Given the description of an element on the screen output the (x, y) to click on. 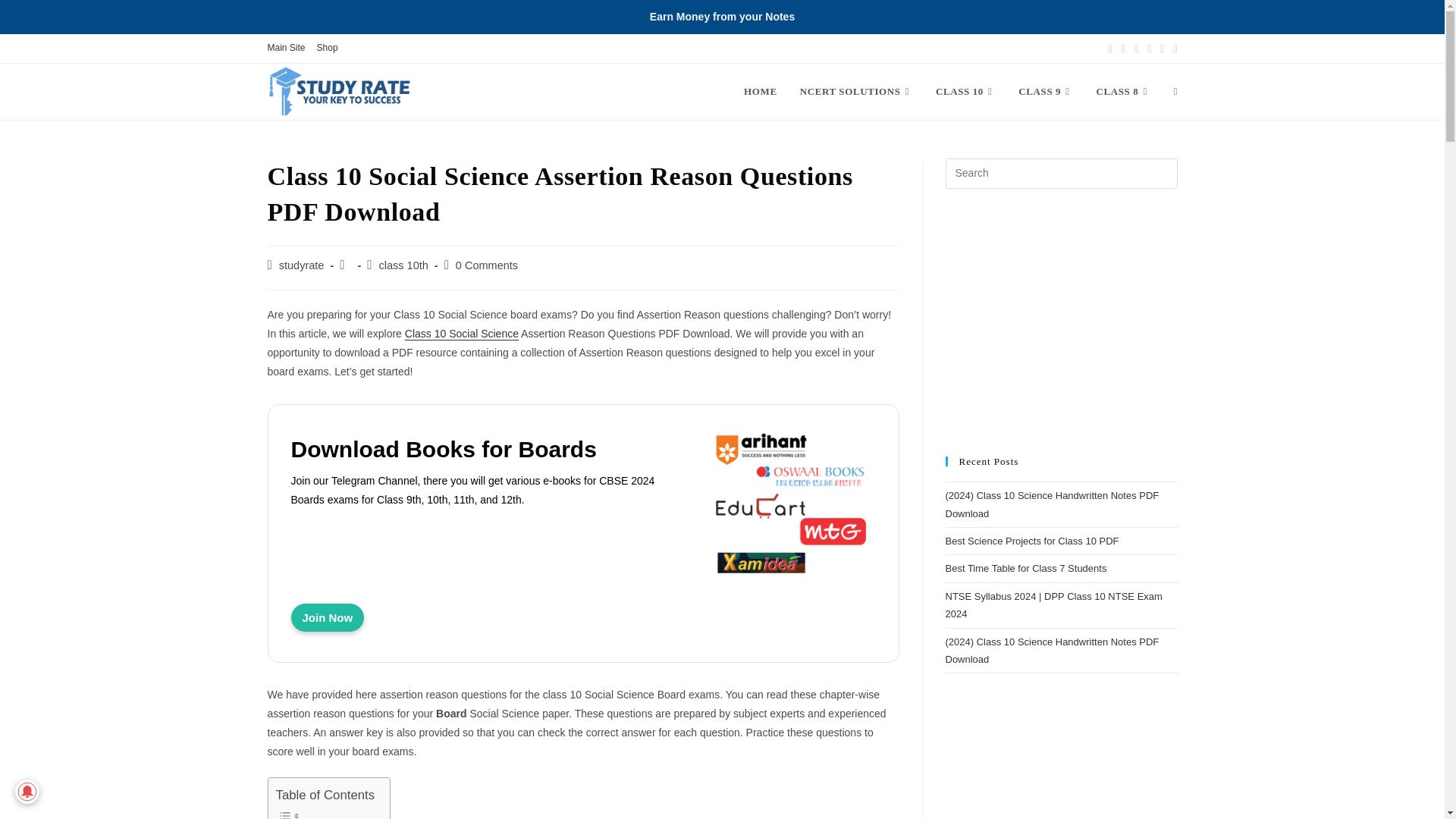
Shop (327, 48)
NCERT SOLUTIONS (856, 91)
Main Site (285, 48)
Earn Money from your Notes (721, 16)
Download Books for Boards (489, 449)
HOME (760, 91)
Download Books for Boards (793, 512)
Download Books for Boards (328, 617)
CLASS 10 (965, 91)
Posts by studyrate (301, 265)
